Given the description of an element on the screen output the (x, y) to click on. 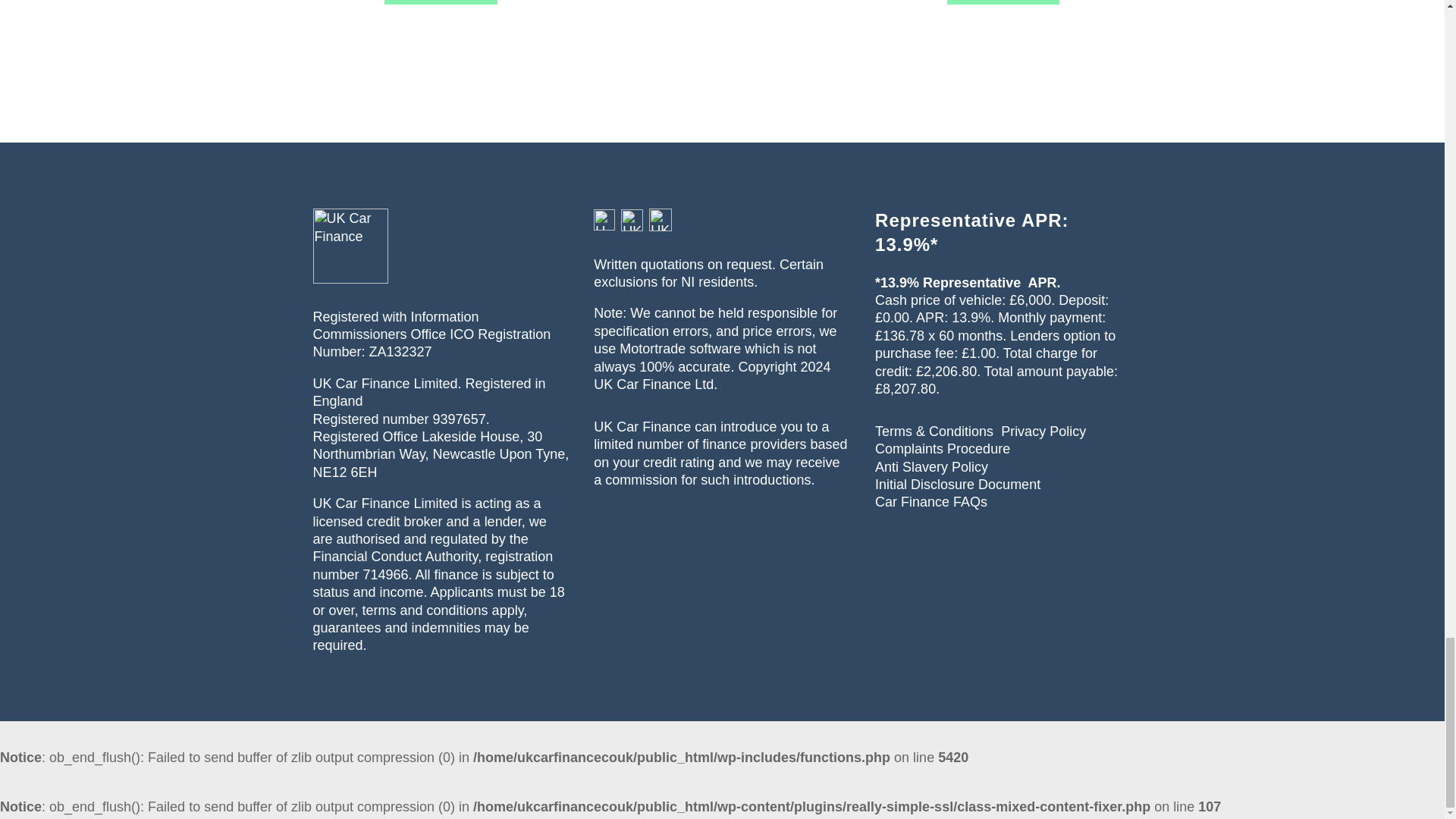
UK Car Finance Instagram icon (604, 219)
UK Car Finance Facebook icon (660, 219)
UK Car Finance Twitter icon (632, 219)
